Given the description of an element on the screen output the (x, y) to click on. 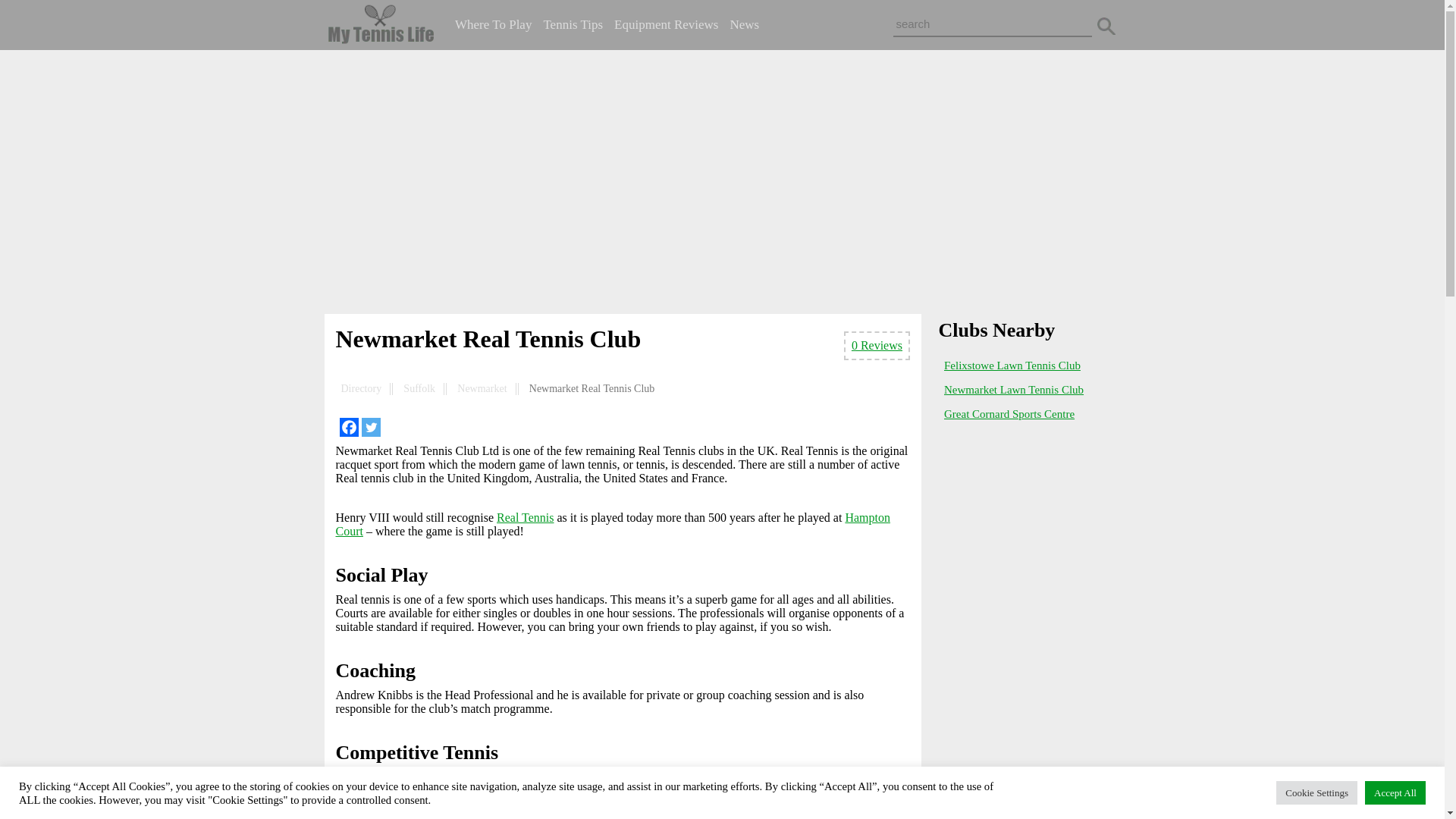
News (743, 23)
Facebook (348, 426)
Where To Play (492, 23)
Hampton Court (611, 524)
Cookie Settings (1316, 792)
Felixstowe Lawn Tennis Club (1011, 365)
Newmarket (481, 388)
Directory (360, 388)
Great Cornard Sports Centre (1008, 413)
Suffolk (419, 388)
Newmarket Lawn Tennis Club (1013, 389)
0 Reviews (876, 345)
Real Tennis (524, 517)
Equipment Reviews (665, 23)
Twitter (370, 426)
